Given the description of an element on the screen output the (x, y) to click on. 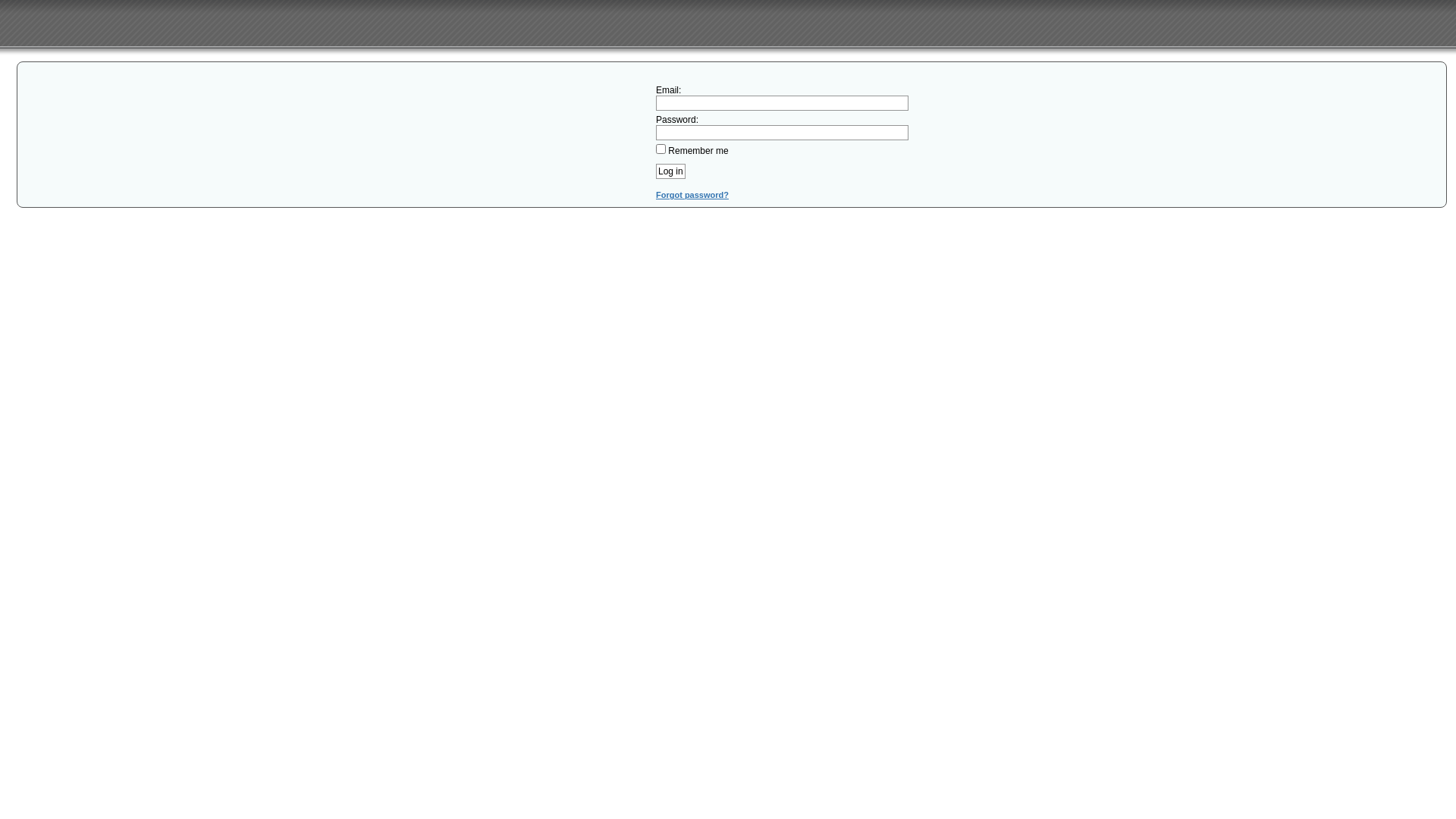
Log in Element type: text (670, 170)
Forgot password? Element type: text (691, 194)
